Given the description of an element on the screen output the (x, y) to click on. 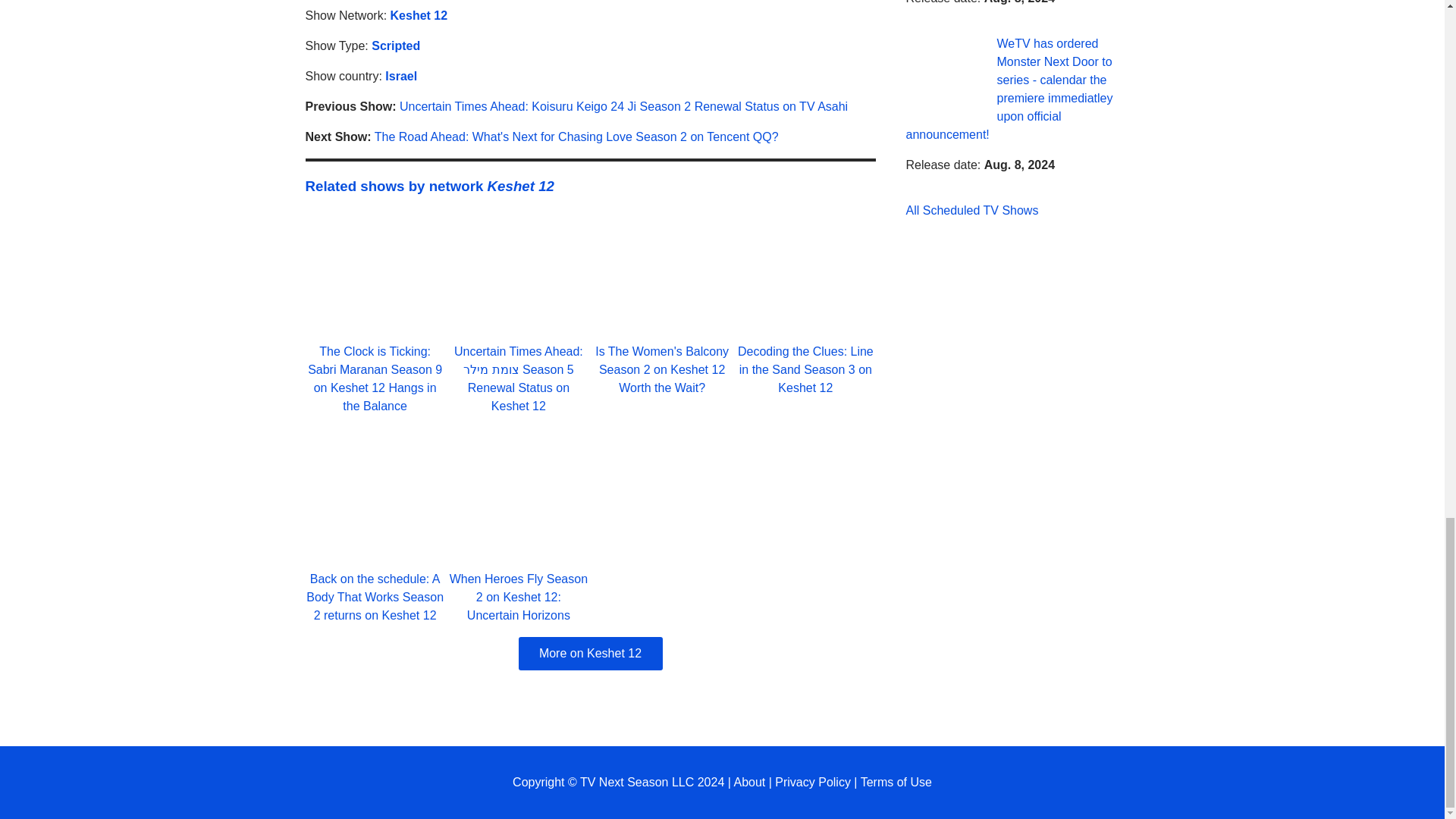
Is The Women's Balcony Season 2 on Keshet 12 Worth the Wait? (662, 368)
Israel (400, 75)
When Heroes Fly Season 2 on Keshet 12: Uncertain Horizons (518, 596)
Decoding the Clues: Line in the Sand Season 3 on Keshet 12 (805, 368)
Keshet 12 (419, 15)
More on Keshet 12 (590, 653)
